Given the description of an element on the screen output the (x, y) to click on. 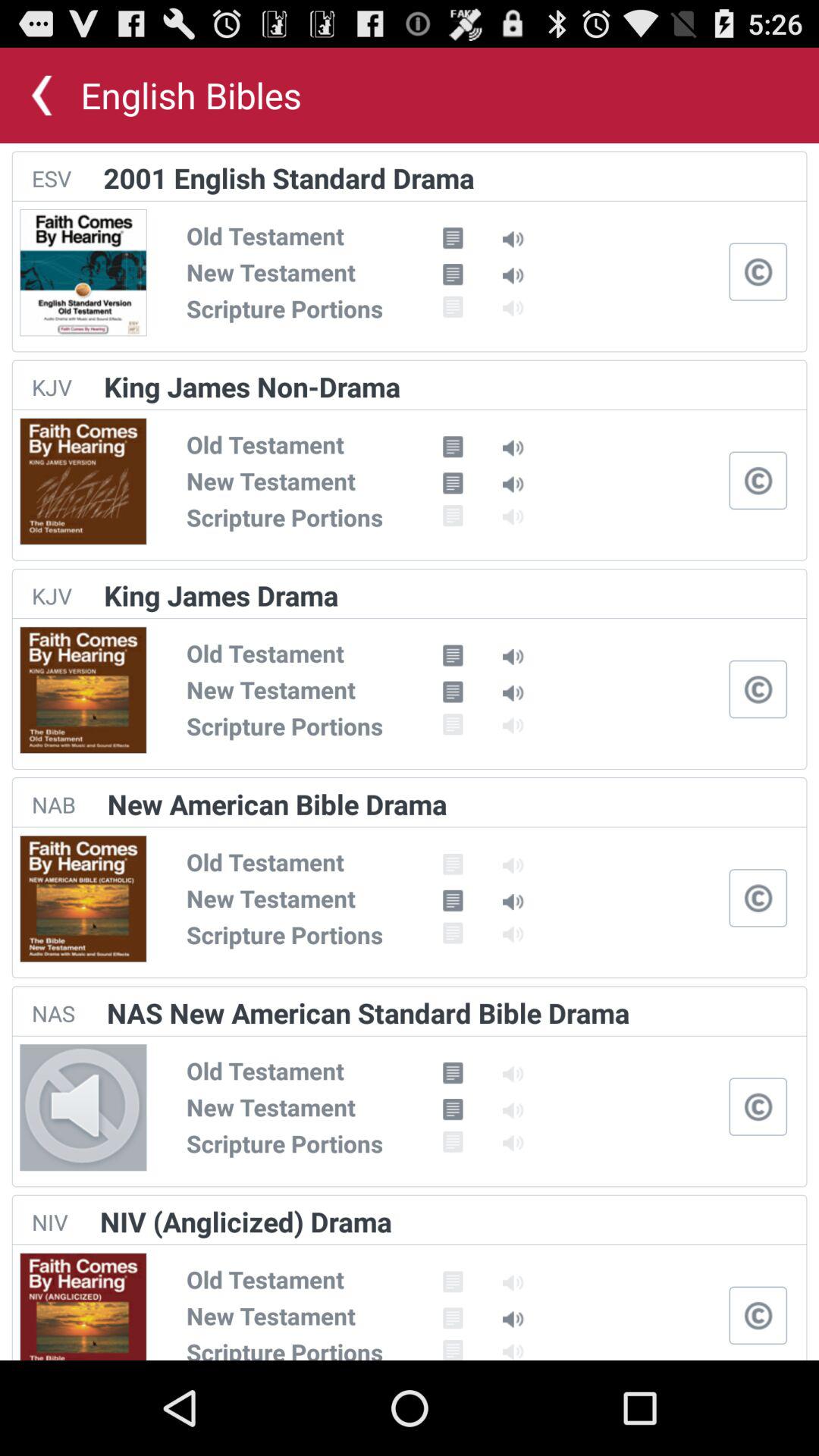
turn on the app next to niv item (245, 1221)
